Given the description of an element on the screen output the (x, y) to click on. 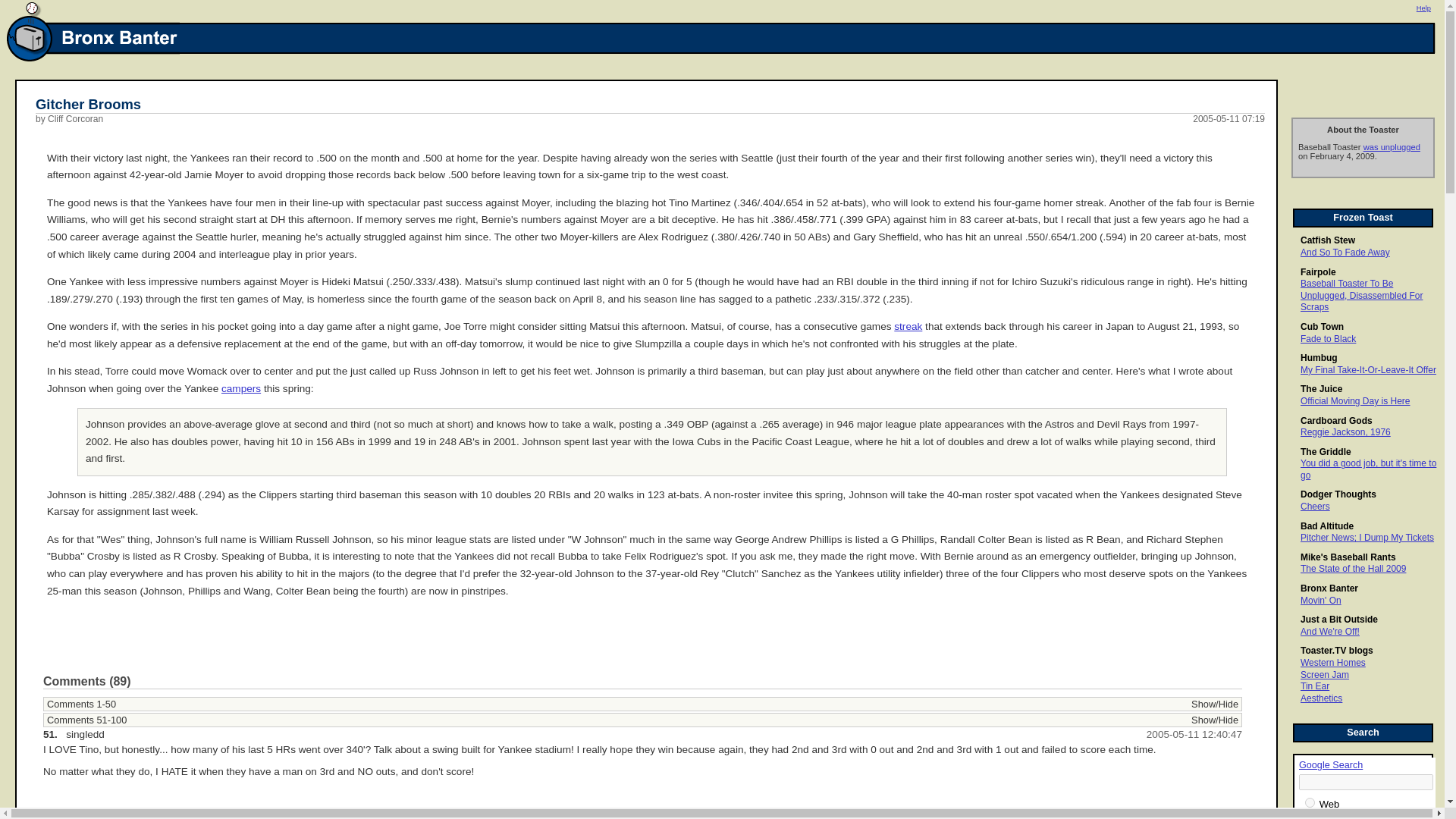
The Griddle (1325, 451)
Dodger Thoughts (1337, 493)
Reggie Jackson, 1976 (1345, 431)
And So To Fade Away (1345, 252)
Cub Town (1321, 326)
Movin' On (1320, 600)
The Juice (1321, 388)
Toaster.TV blogs (1336, 650)
Bad Altitude (1327, 525)
Google Search (1330, 765)
Cardboard Gods (1336, 420)
You did a good job, but it's time to go (1367, 468)
Screen Jam (1324, 674)
The State of the Hall 2009 (1353, 568)
Humbug (1319, 357)
